Given the description of an element on the screen output the (x, y) to click on. 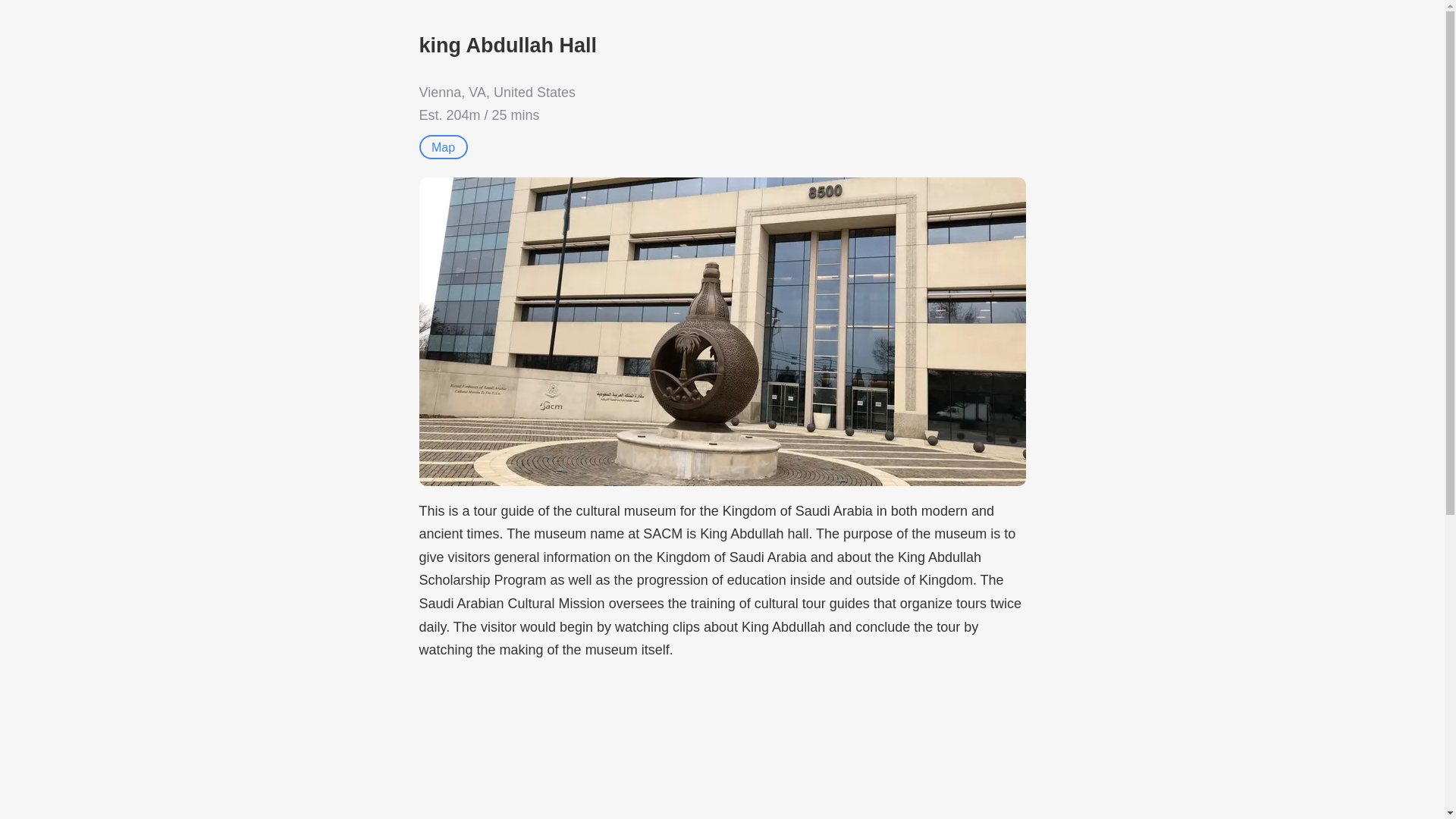
Map (442, 146)
Advertisement (722, 747)
